Given the description of an element on the screen output the (x, y) to click on. 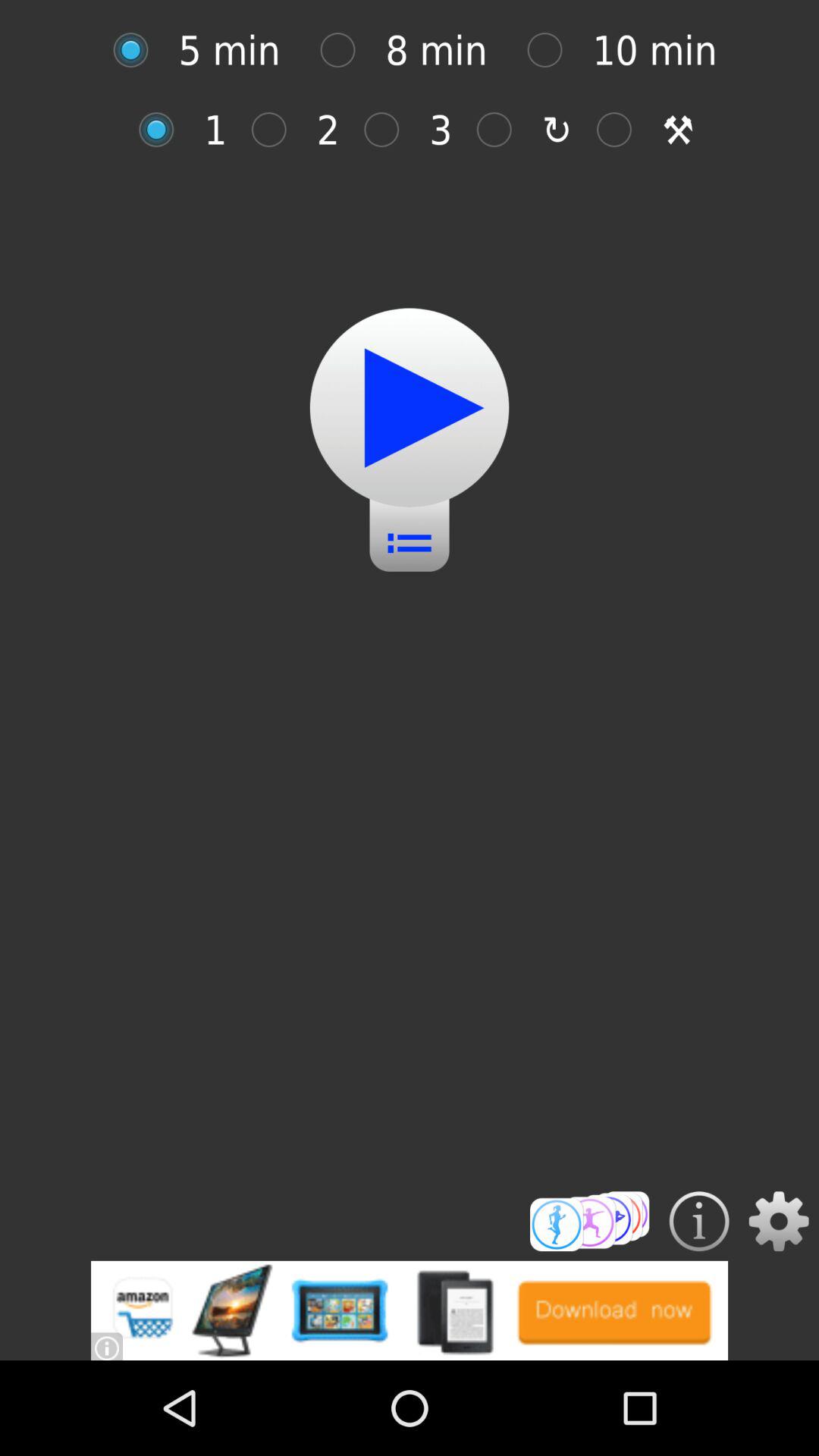
settings (778, 1221)
